Given the description of an element on the screen output the (x, y) to click on. 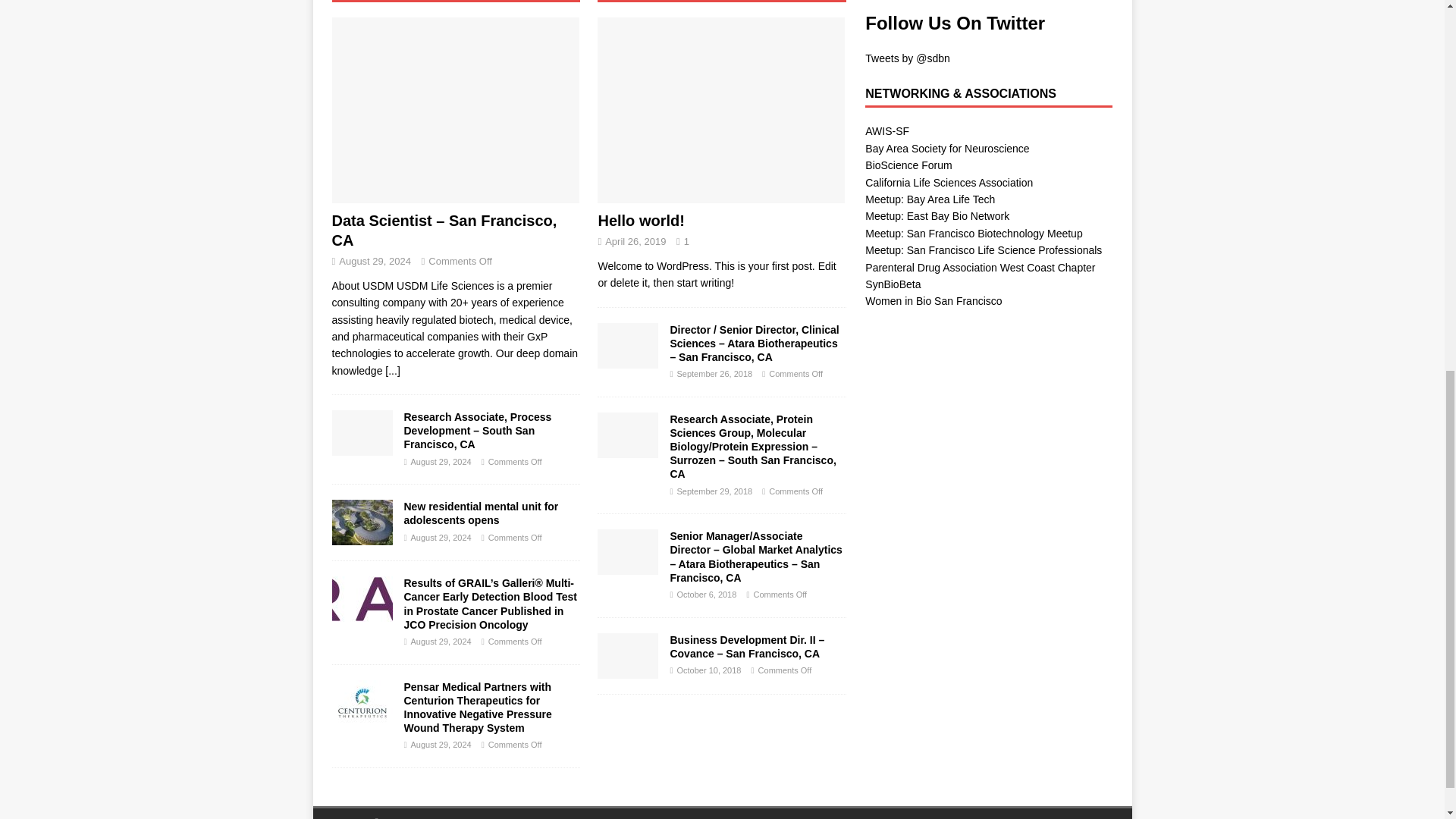
August 29, 2024 (440, 537)
New residential mental unit for adolescents opens (480, 513)
August 29, 2024 (374, 260)
Hello world! (720, 110)
New residential mental unit for adolescents opens (362, 522)
August 29, 2024 (440, 461)
New residential mental unit for adolescents opens (480, 513)
